Given the description of an element on the screen output the (x, y) to click on. 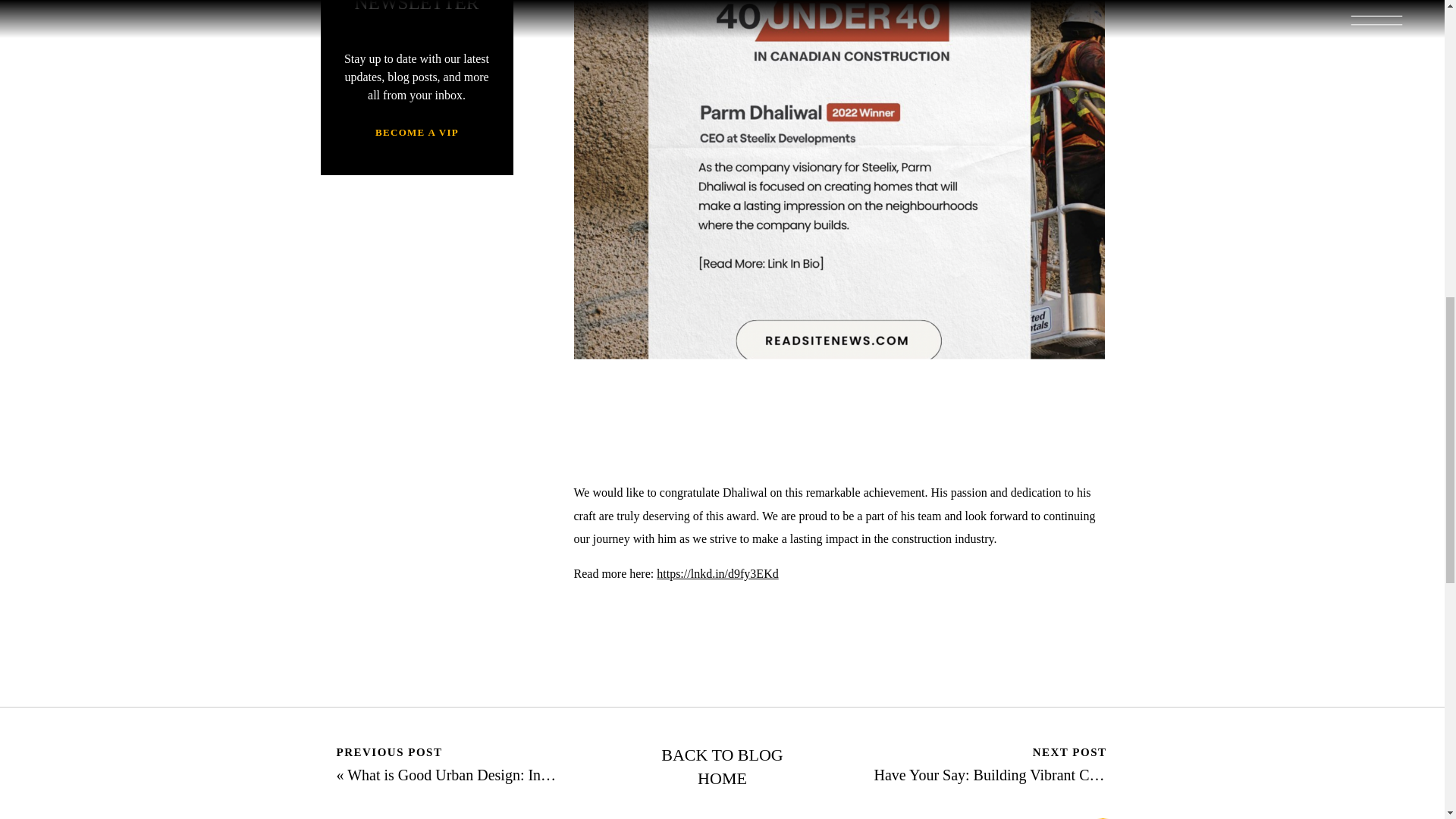
Have Your Say: Building Vibrant Communities with Steelix Dev (1069, 774)
BACK TO BLOG HOME (722, 767)
BECOME A VIP (417, 133)
